Given the description of an element on the screen output the (x, y) to click on. 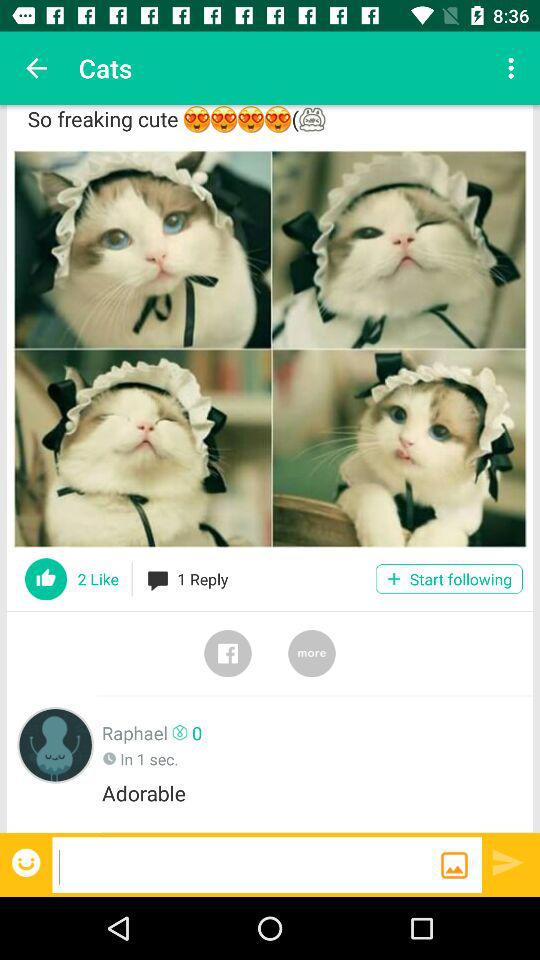
view person 's profile (55, 744)
